Given the description of an element on the screen output the (x, y) to click on. 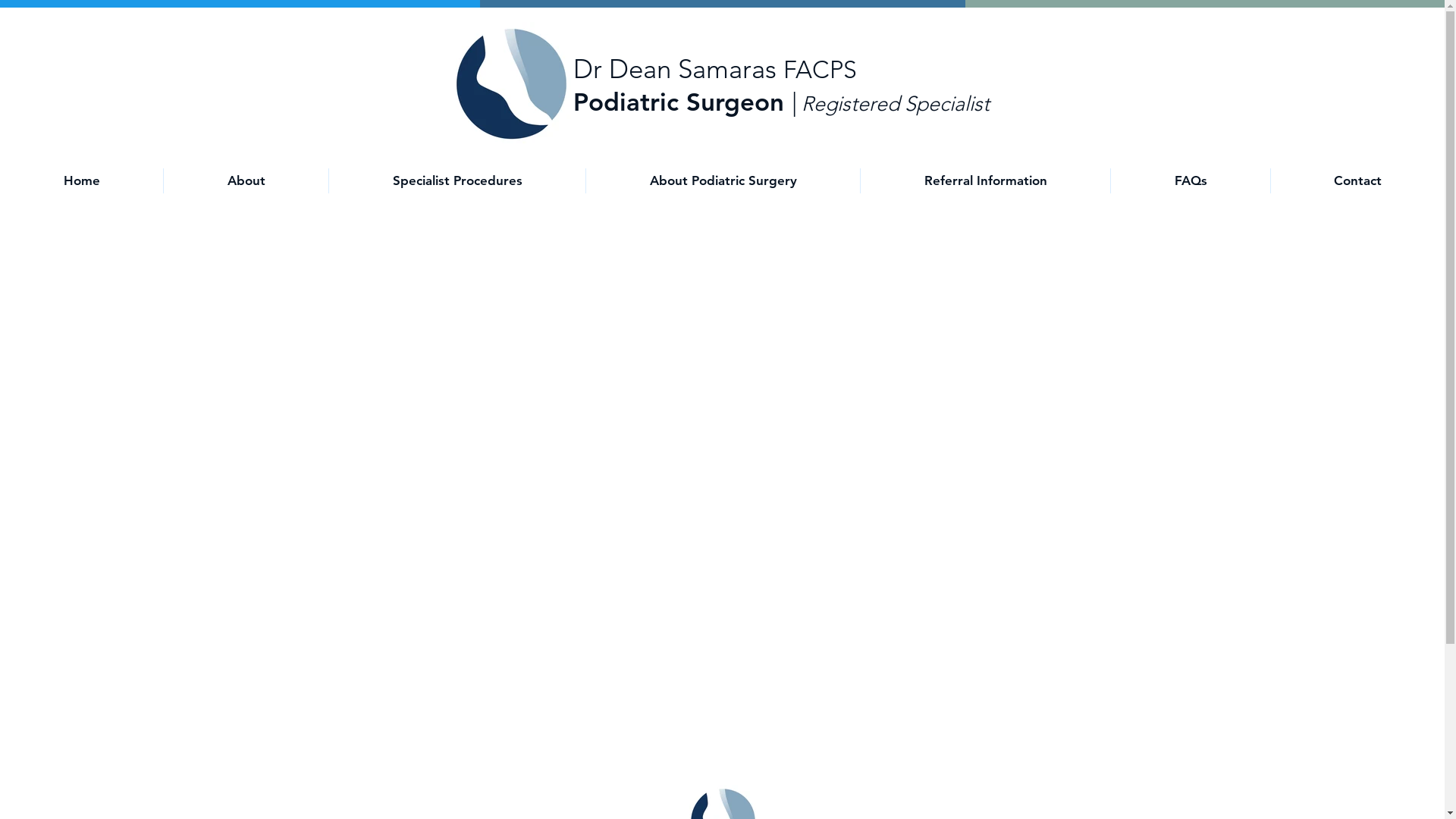
About Element type: text (245, 180)
FACPS Element type: text (819, 69)
Contact Element type: text (1357, 180)
Dr Dean Samaras Element type: text (678, 68)
Specialist Procedures Element type: text (457, 180)
Home Element type: text (81, 180)
FAQs Element type: text (1190, 180)
About Podiatric Surgery Element type: text (722, 180)
Referral Information Element type: text (985, 180)
